Given the description of an element on the screen output the (x, y) to click on. 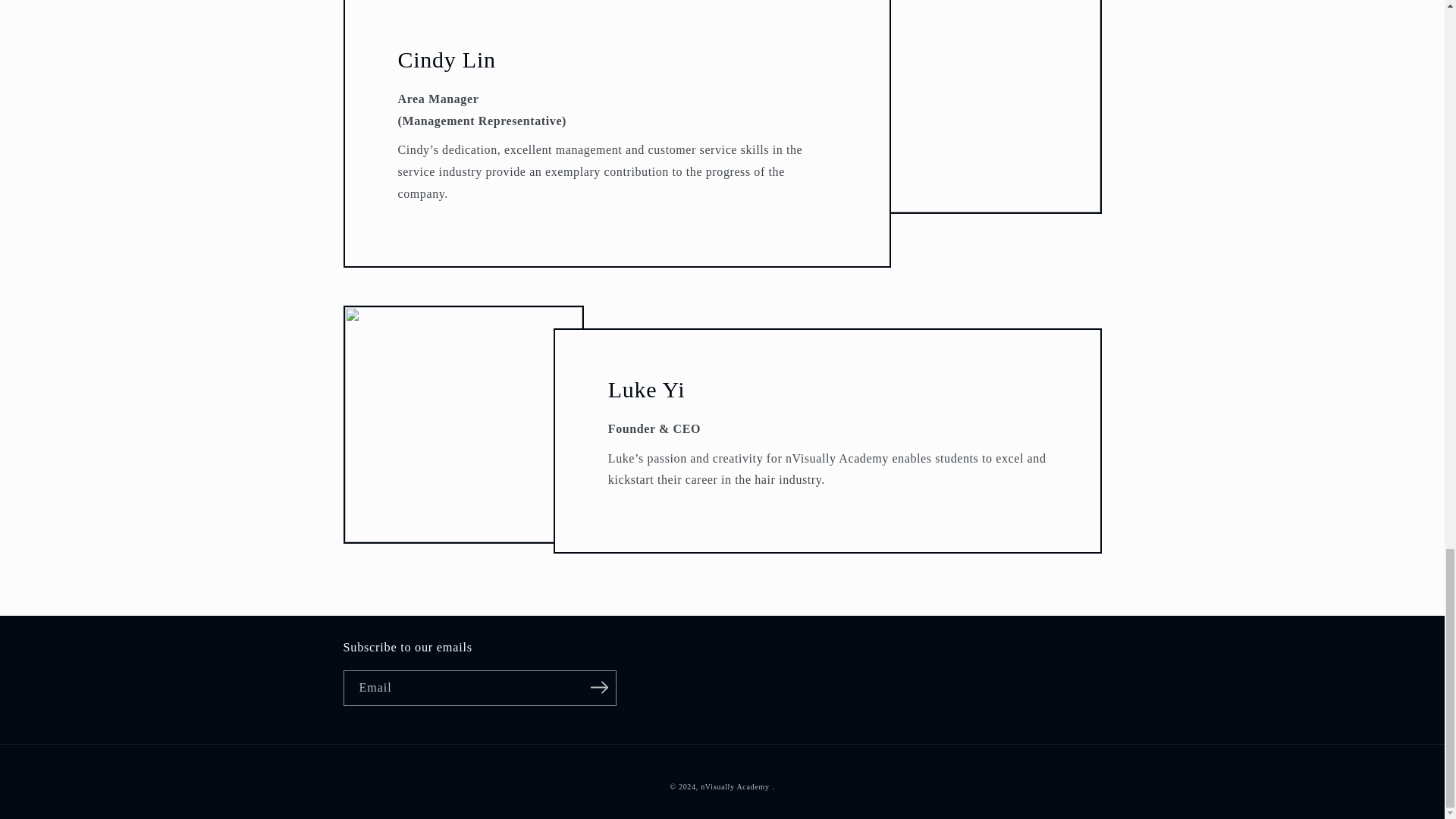
nVisually Academy (734, 786)
